Given the description of an element on the screen output the (x, y) to click on. 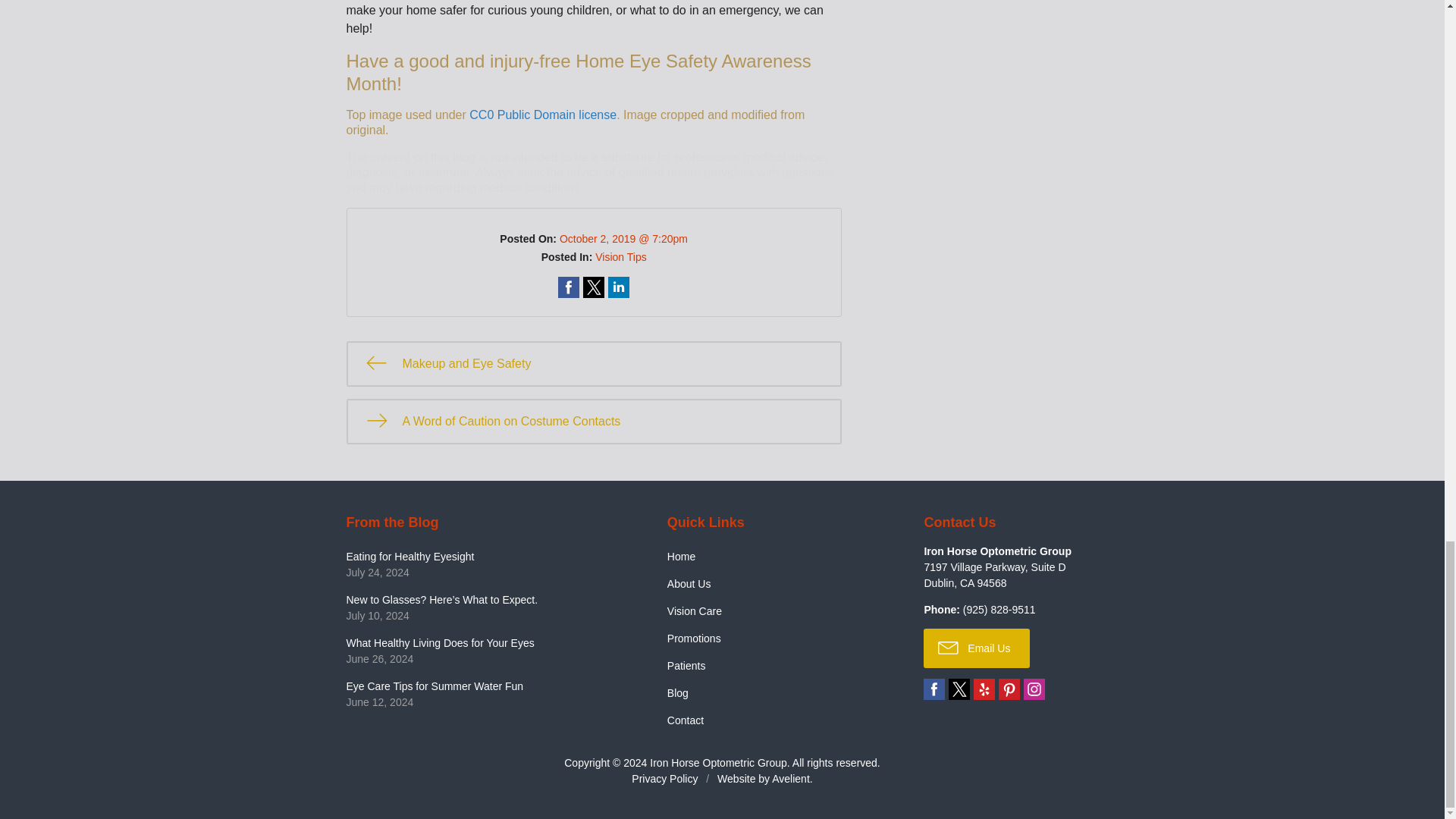
Share on LinkedIn (618, 287)
Powered by Avelient (790, 778)
Share on Facebook (568, 287)
Contact practice (998, 609)
Share on Twitter (593, 287)
Go to our Pinterest Page (1009, 689)
Makeup and Eye Safety (593, 363)
Vision Tips (620, 256)
Share on LinkedIn (618, 287)
Share on Twitter (593, 287)
Go to our Instagram Page (1034, 689)
A Word of Caution on Costume Contacts (593, 421)
Open this address in Google Maps (994, 574)
Go to our Facebook Page (933, 689)
Share on Facebook (568, 287)
